Given the description of an element on the screen output the (x, y) to click on. 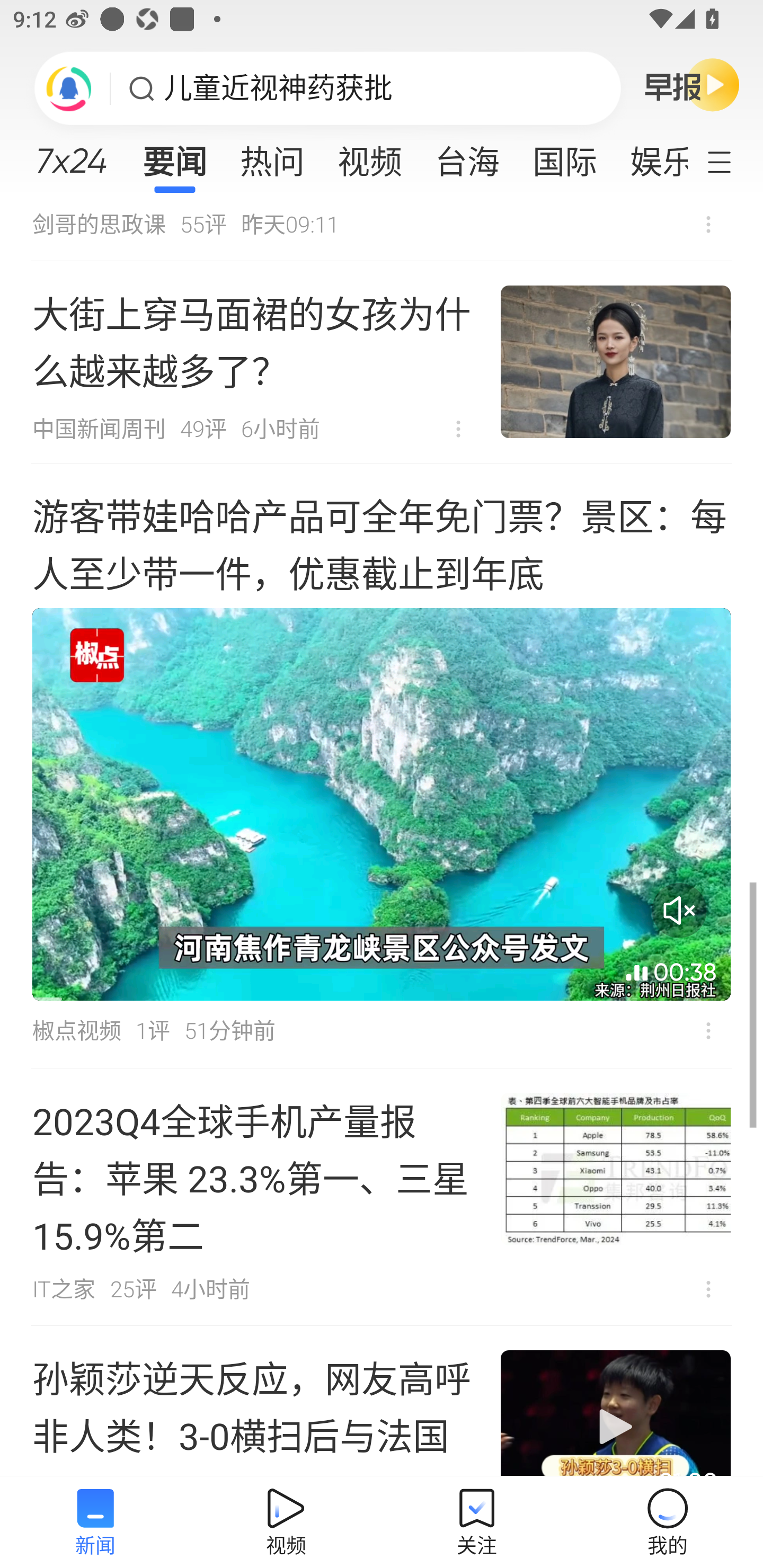
早晚报 (691, 84)
刷新 (68, 88)
儿童近视神药获批 (278, 88)
7x24 (70, 154)
要闻 (174, 155)
热问 (272, 155)
视频 (369, 155)
台海 (466, 155)
国际 (564, 155)
娱乐 (650, 155)
 定制频道 (731, 160)
 不感兴趣 (707, 224)
大街上穿马面裙的女孩为什么越来越多了？ 中国新闻周刊 49评 6小时前  不感兴趣 (381, 361)
 不感兴趣 (458, 428)
音量开关 (678, 909)
 不感兴趣 (707, 1030)
 不感兴趣 (707, 1288)
孙颖莎逆天反应，网友高呼非人类！3-0横扫后与法国名将聊起来了 01:00 (381, 1401)
